Given the description of an element on the screen output the (x, y) to click on. 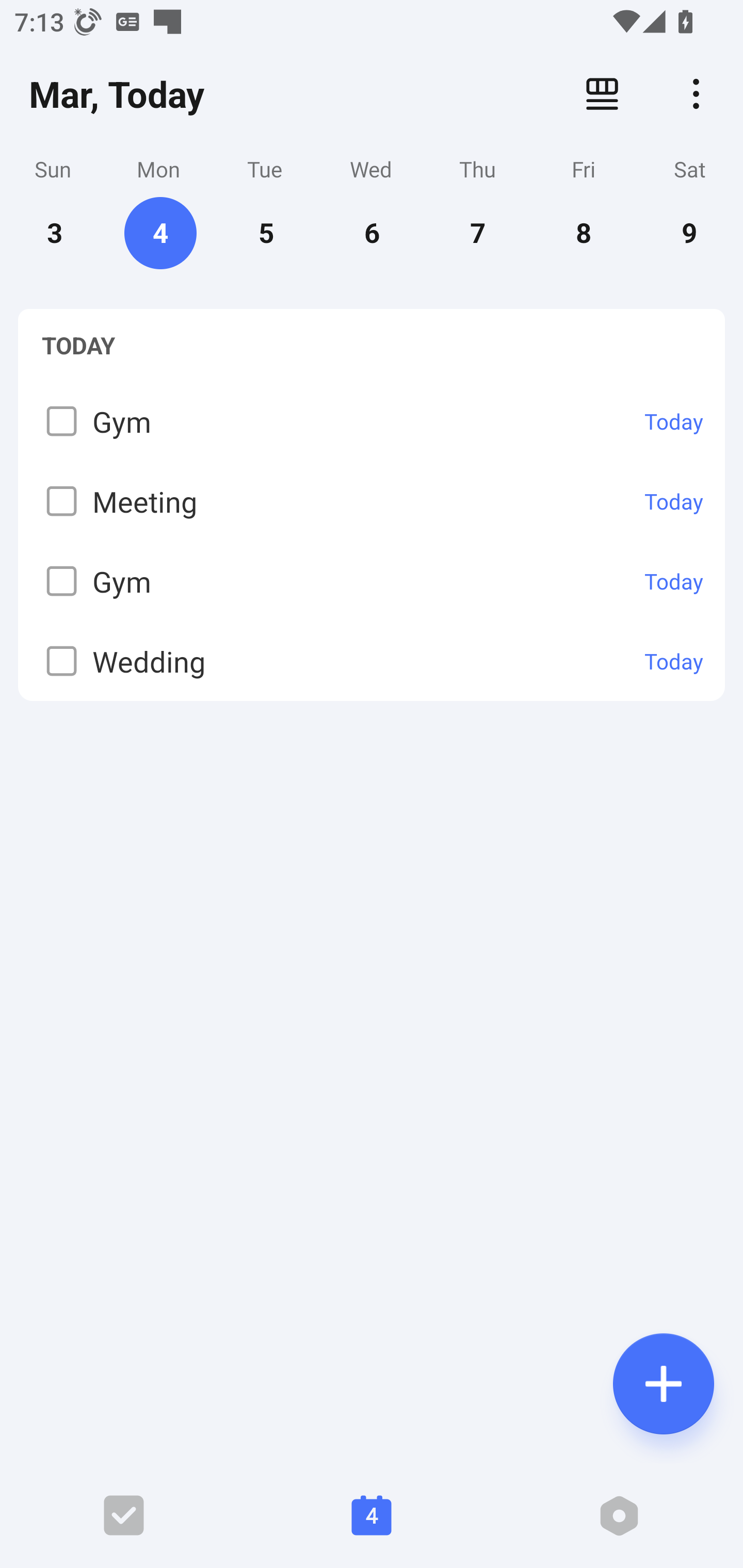
Mar, Today (116, 93)
TODAY (371, 344)
Gym Today (371, 420)
Today (673, 420)
Meeting Today (371, 500)
Today (673, 500)
Gym Today (371, 580)
Today (673, 580)
Wedding Today (371, 660)
Today (673, 660)
